Given the description of an element on the screen output the (x, y) to click on. 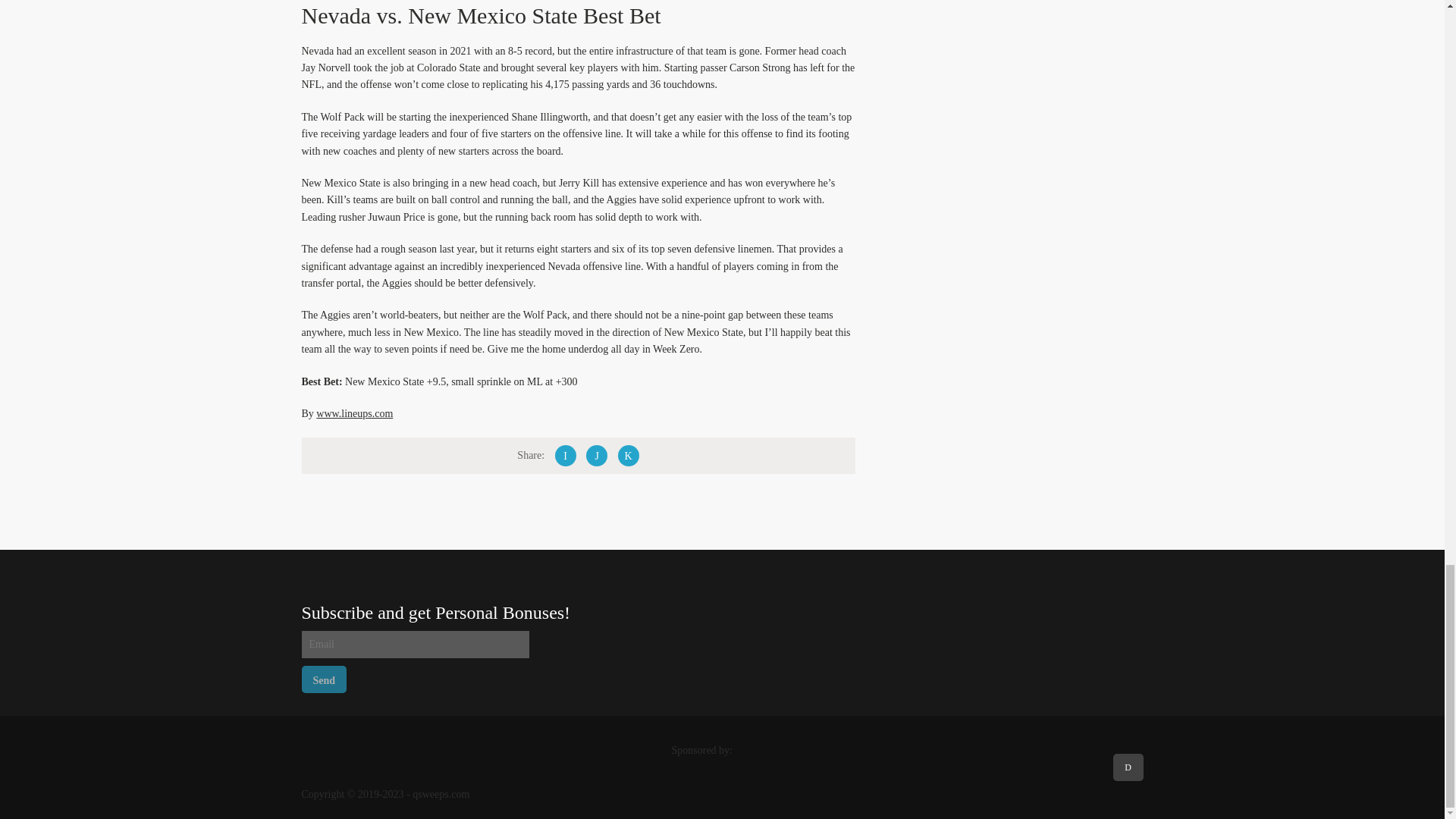
Send (324, 678)
Share on Facebook (565, 455)
Send (324, 678)
Share by email (628, 455)
Share on Twitter (596, 455)
www.lineups.com (354, 413)
